Given the description of an element on the screen output the (x, y) to click on. 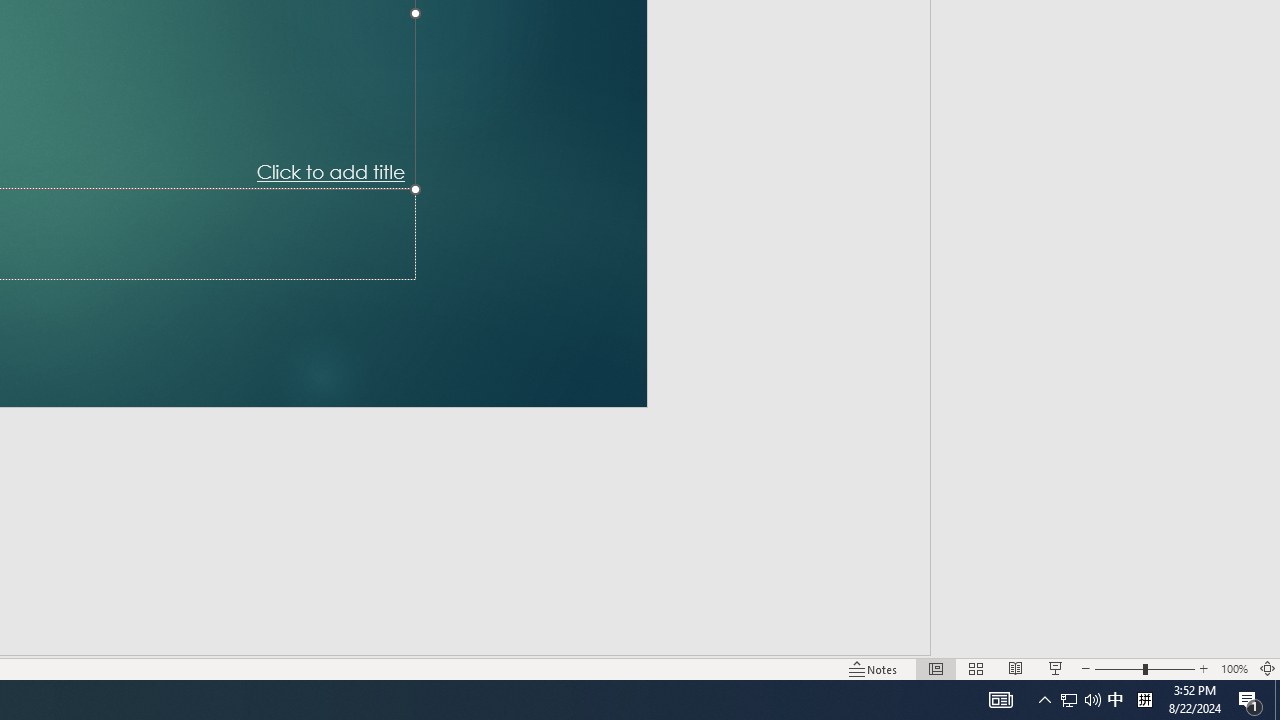
Zoom 100% (1234, 668)
